Given the description of an element on the screen output the (x, y) to click on. 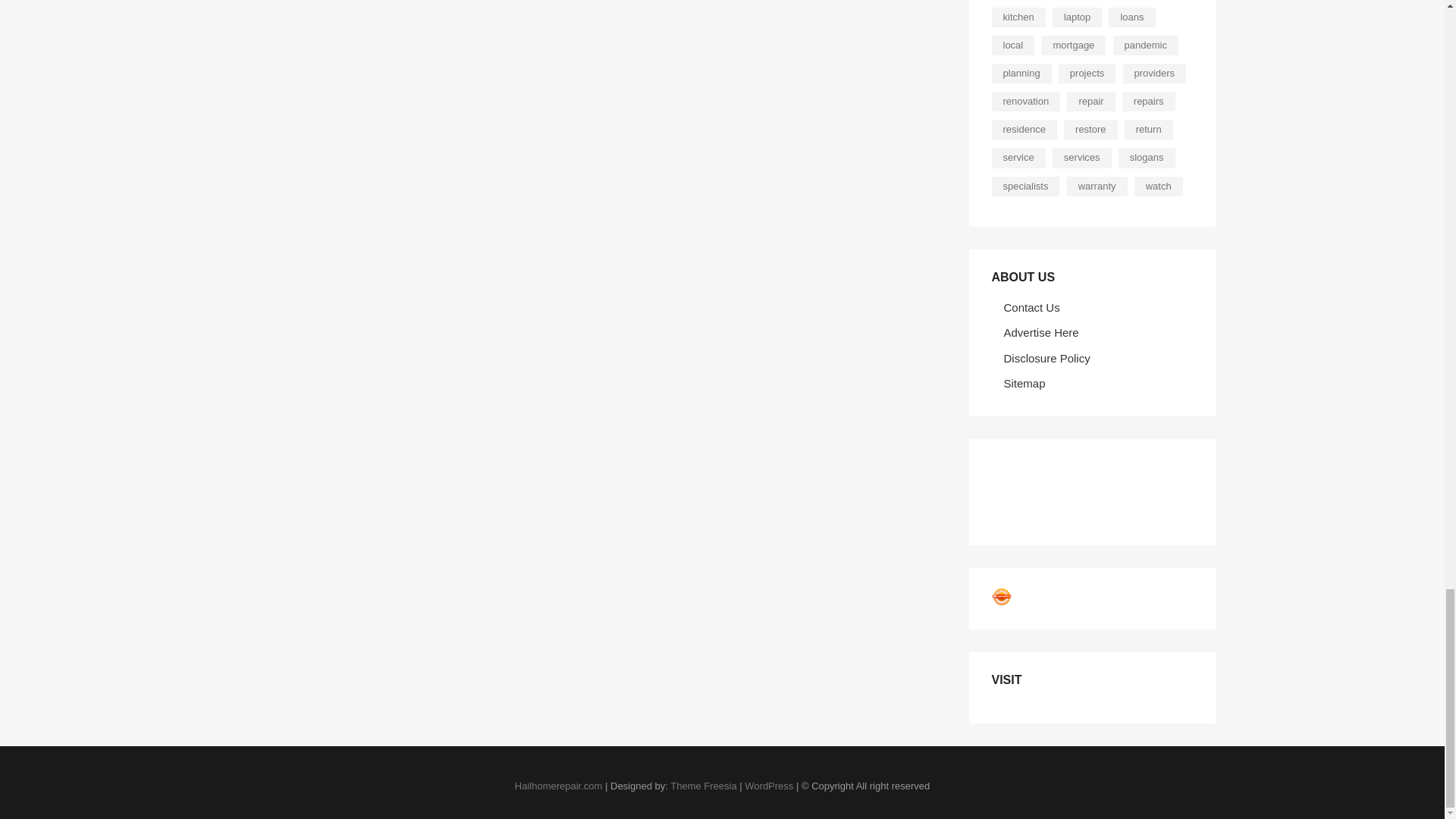
Theme Freesia (702, 785)
Seedbacklink (1001, 596)
Hailhomerepair.com (558, 785)
WordPress (768, 785)
